Given the description of an element on the screen output the (x, y) to click on. 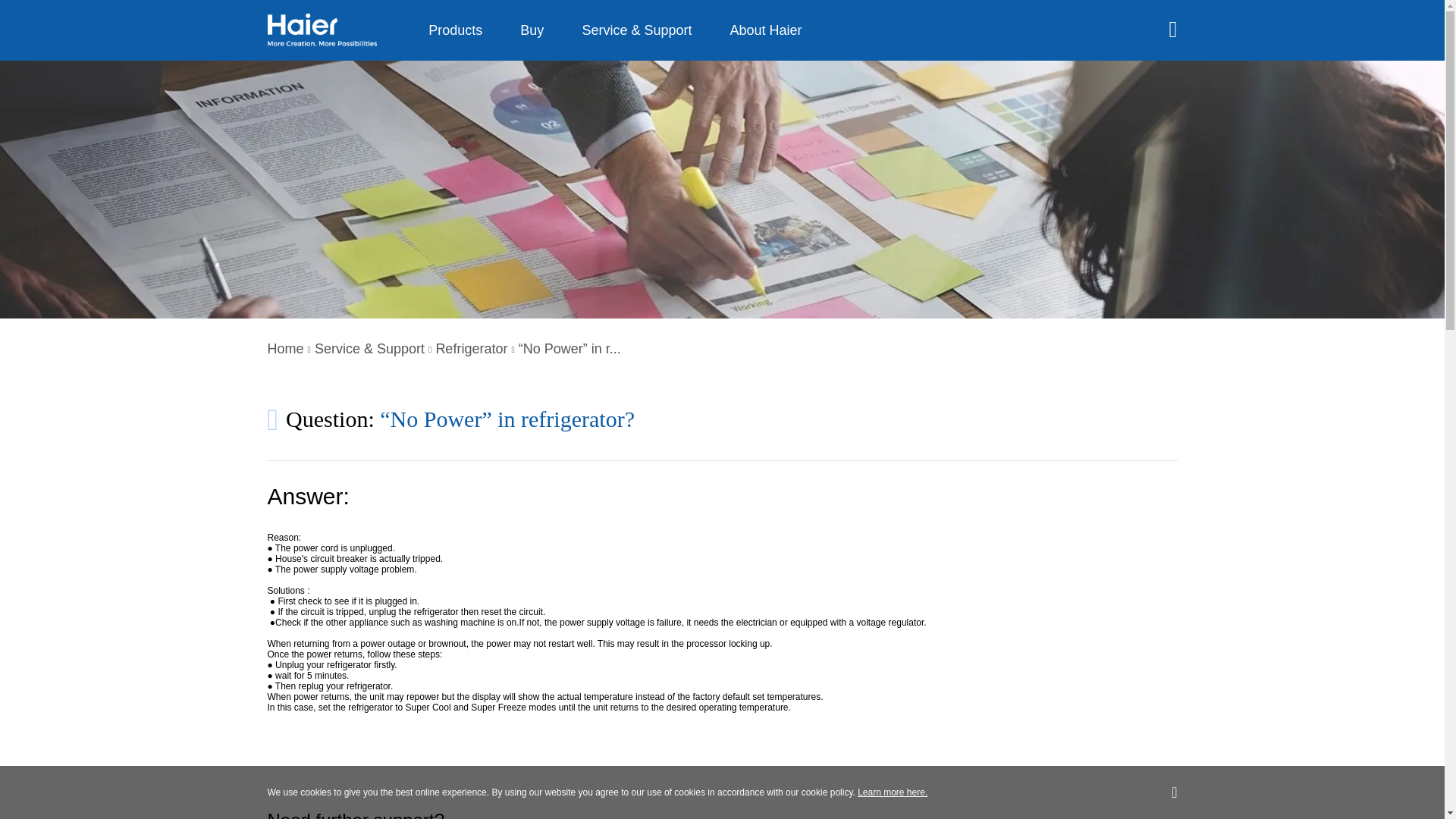
About Haier (765, 30)
Home (284, 348)
Refrigerator (470, 348)
Learn more here. (892, 792)
Products (455, 30)
